Given the description of an element on the screen output the (x, y) to click on. 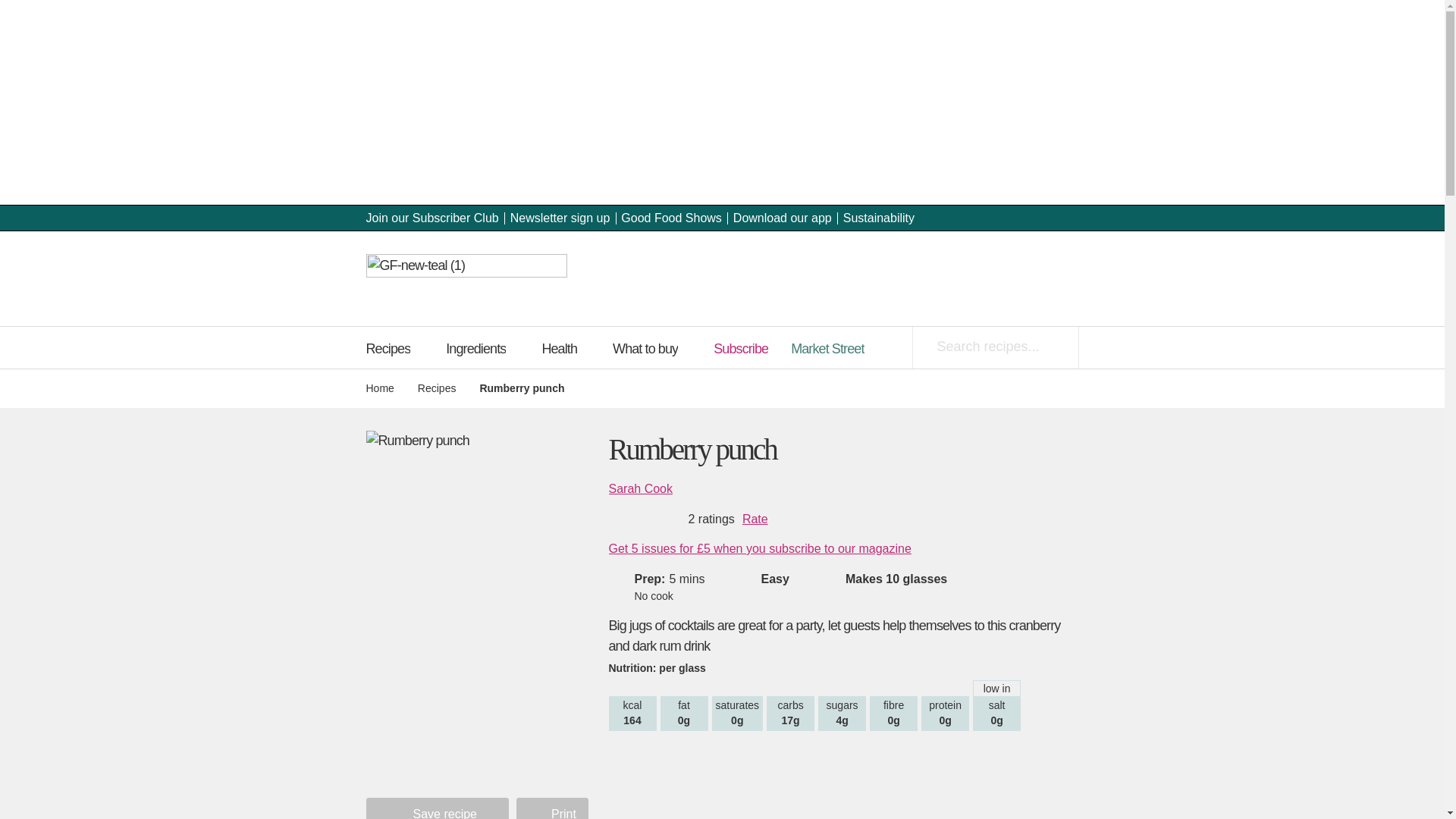
Download our app (782, 216)
Newsletter sign up (560, 216)
Sustainability (878, 216)
Good Food Shows (671, 216)
Join our Subscriber Club (431, 216)
Good Food Shows (671, 216)
Newsletter sign up (560, 216)
Recipes (395, 347)
Join our Subscriber Club (431, 216)
Sustainability (878, 216)
